Given the description of an element on the screen output the (x, y) to click on. 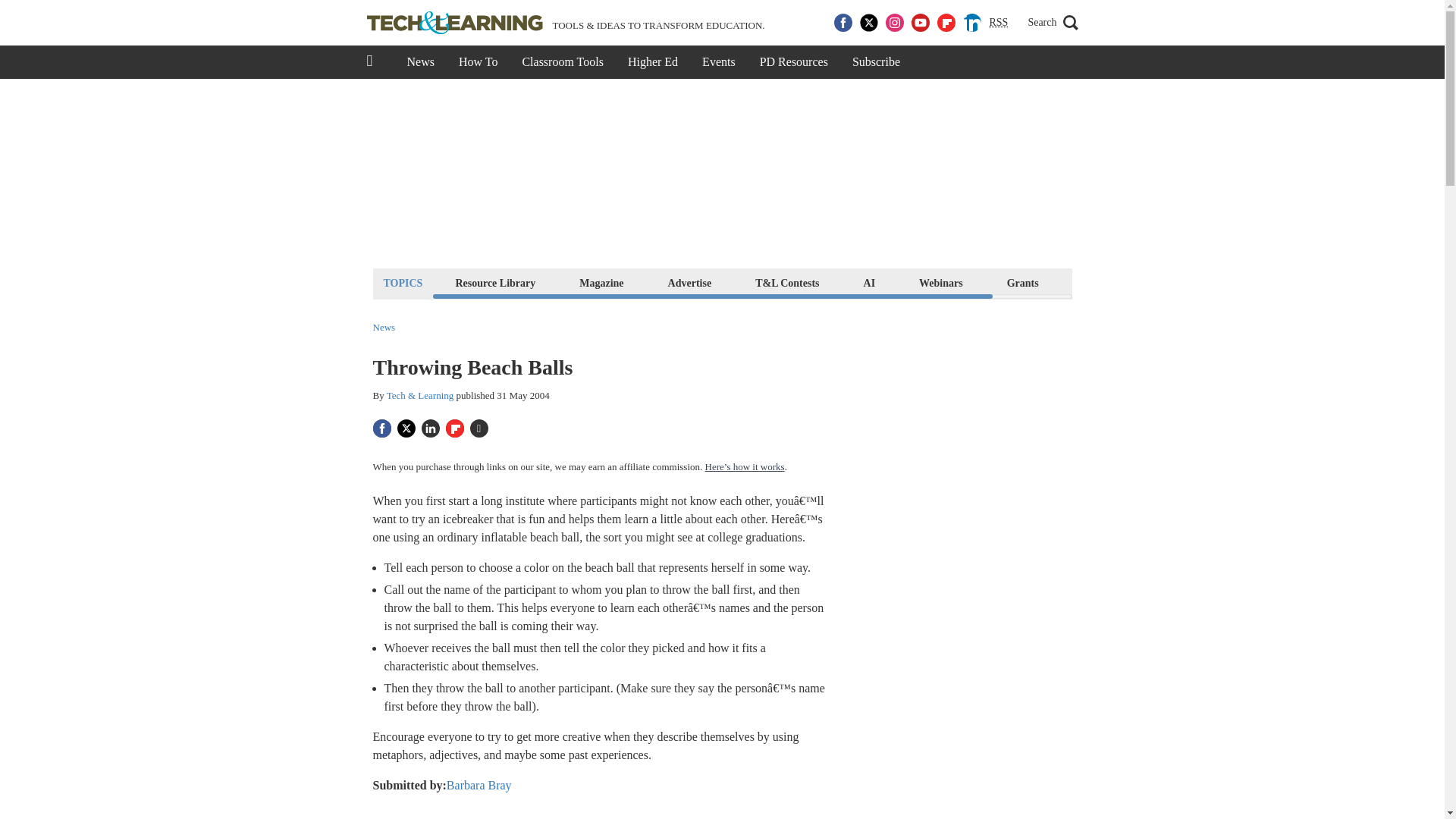
Higher Ed (652, 61)
Classroom Tools (561, 61)
Grants (1022, 282)
PD Resources (794, 61)
Resource Library (494, 282)
RSS (997, 22)
Events (719, 61)
News (419, 61)
Barbara Bray (479, 784)
Webinars (941, 282)
Really Simple Syndication (997, 21)
What to Buy (1111, 282)
Subscribe (876, 61)
Magazine (600, 282)
Advertise (689, 282)
